Given the description of an element on the screen output the (x, y) to click on. 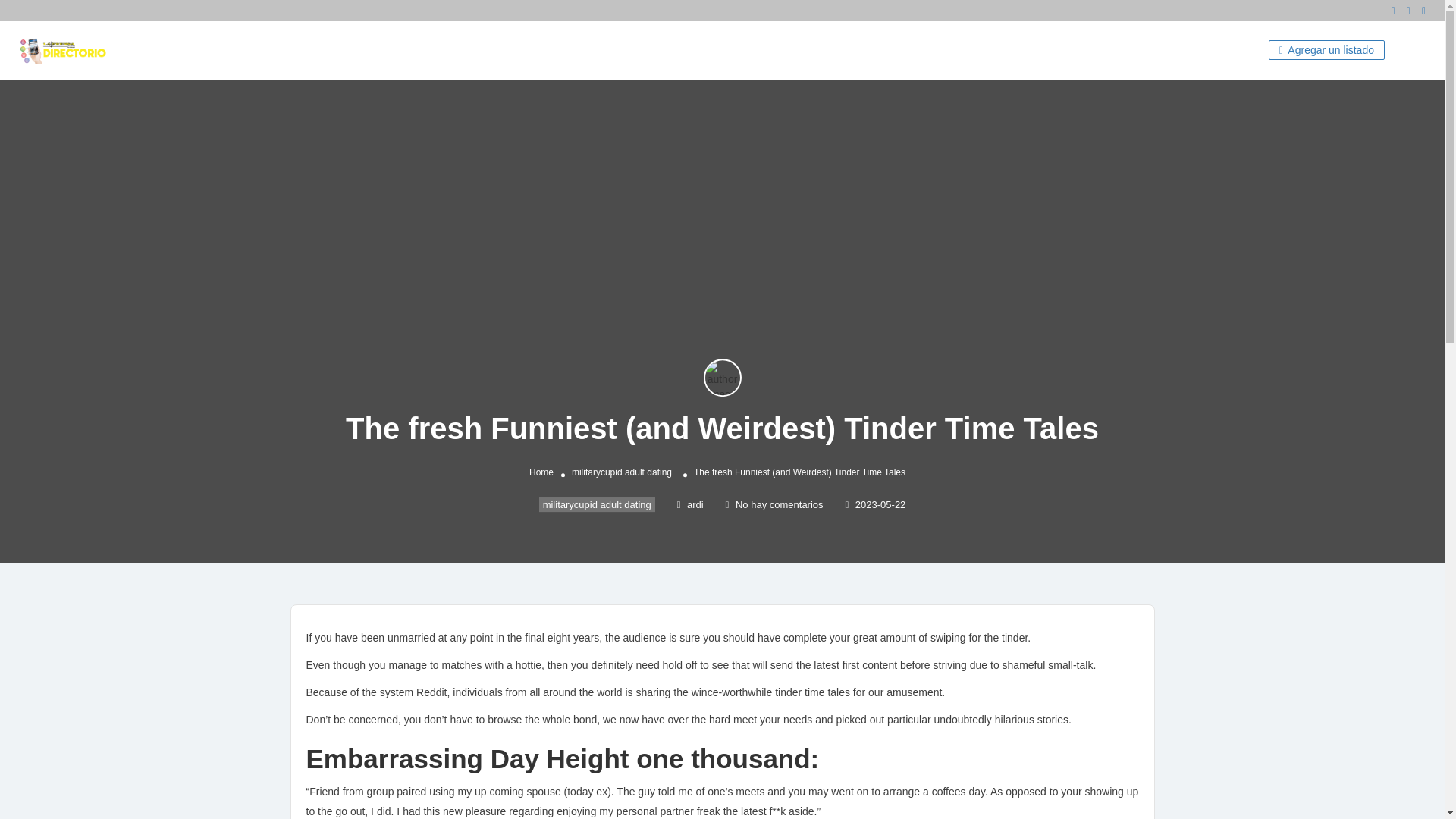
ardi (690, 504)
Home (541, 471)
militarycupid adult dating (596, 503)
No hay comentarios (774, 504)
Agregar un listado (1326, 49)
militarycupid adult dating (621, 471)
